Given the description of an element on the screen output the (x, y) to click on. 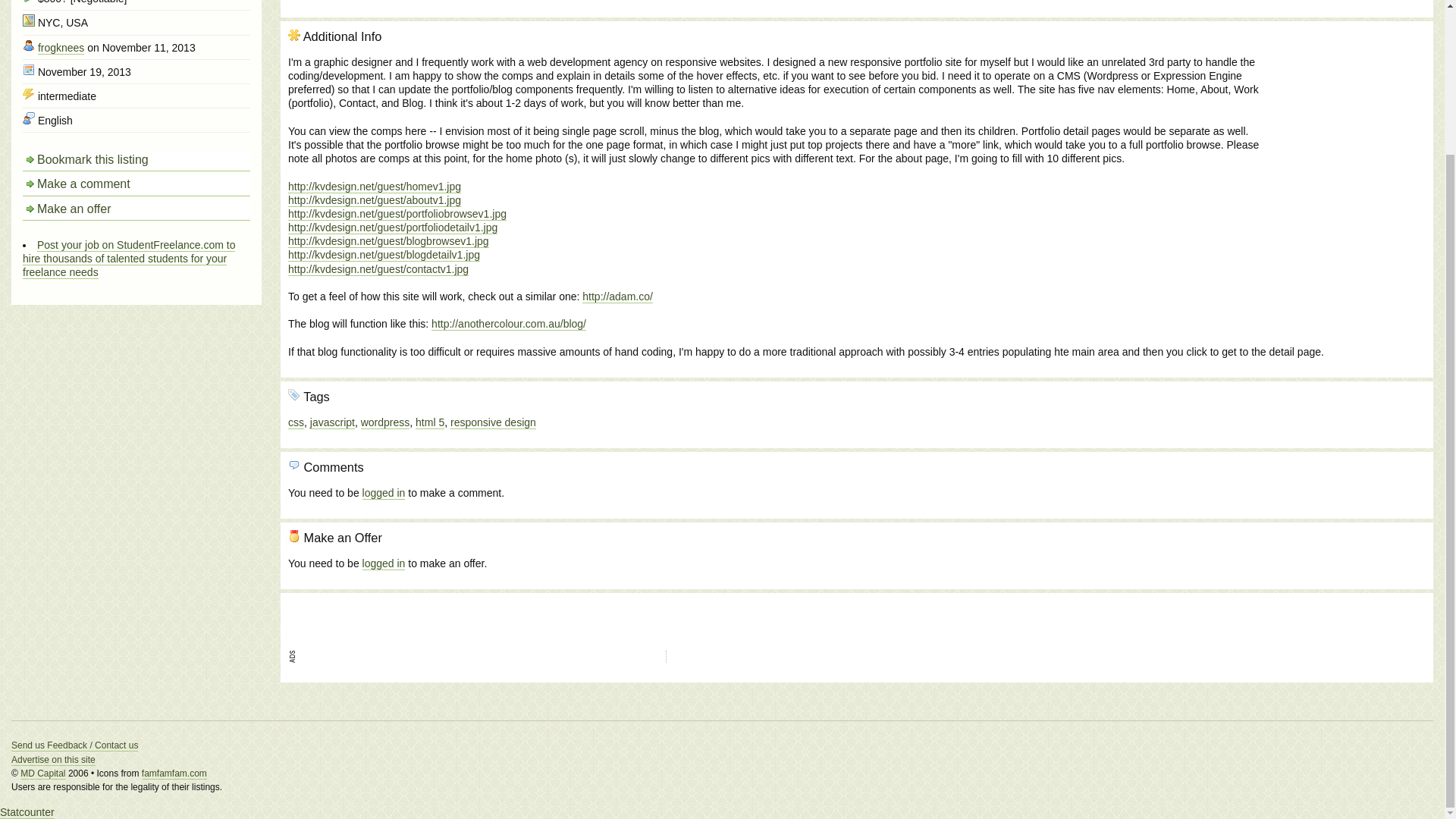
Posted by (28, 51)
famfamfam.com (173, 773)
Make a comment (136, 192)
Skill Level (28, 101)
MD Capital (42, 773)
Spoken Language (28, 125)
css (296, 425)
Bookmark this listing (136, 168)
javascript (332, 425)
Advertise on this site (53, 759)
wordpress (385, 425)
frogknees (60, 55)
html 5 (429, 425)
Deadline (28, 77)
Location (28, 28)
